Given the description of an element on the screen output the (x, y) to click on. 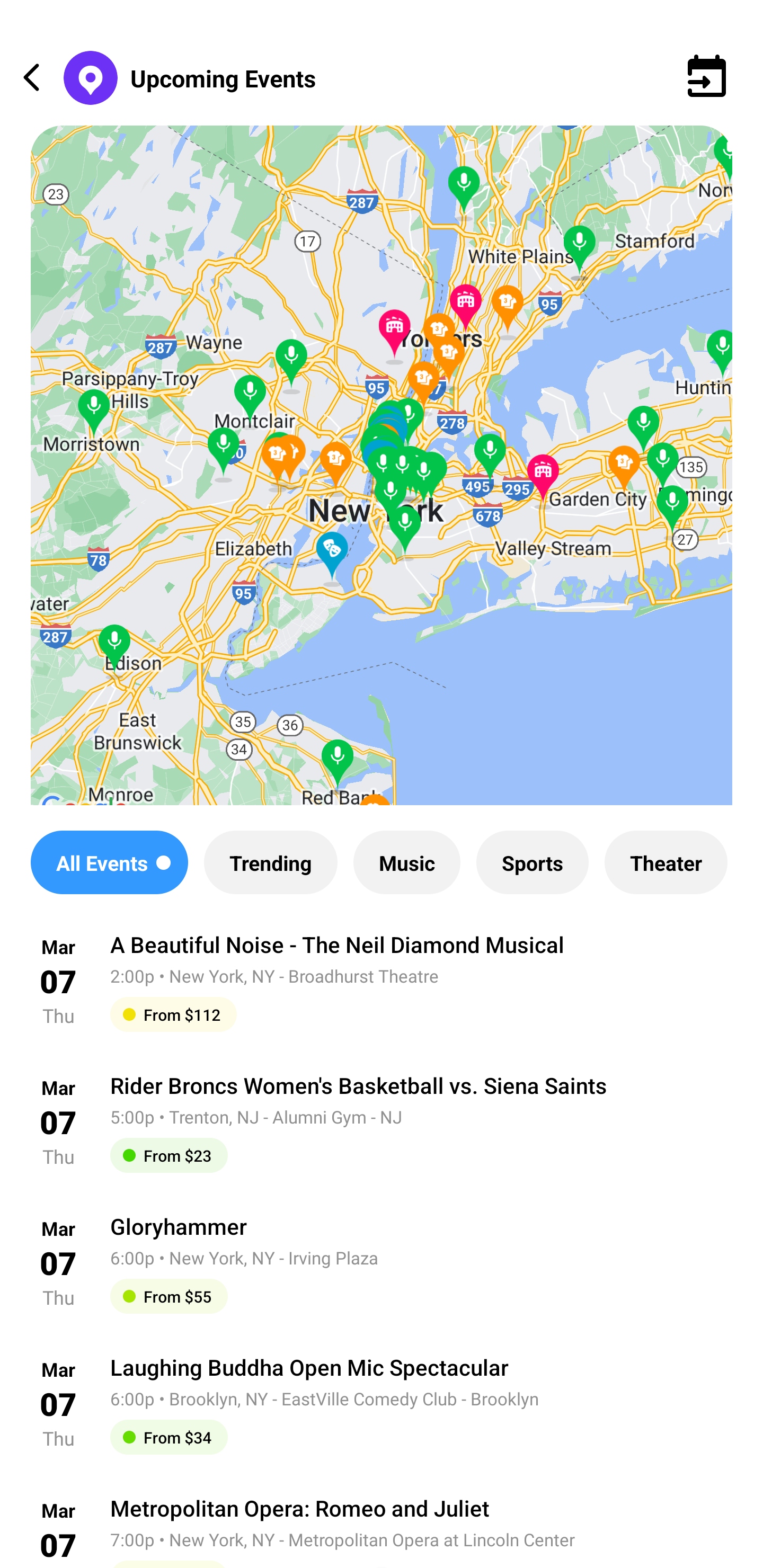
All Events (109, 862)
Trending (270, 862)
Music (406, 862)
Sports (532, 862)
Theater (665, 862)
